Given the description of an element on the screen output the (x, y) to click on. 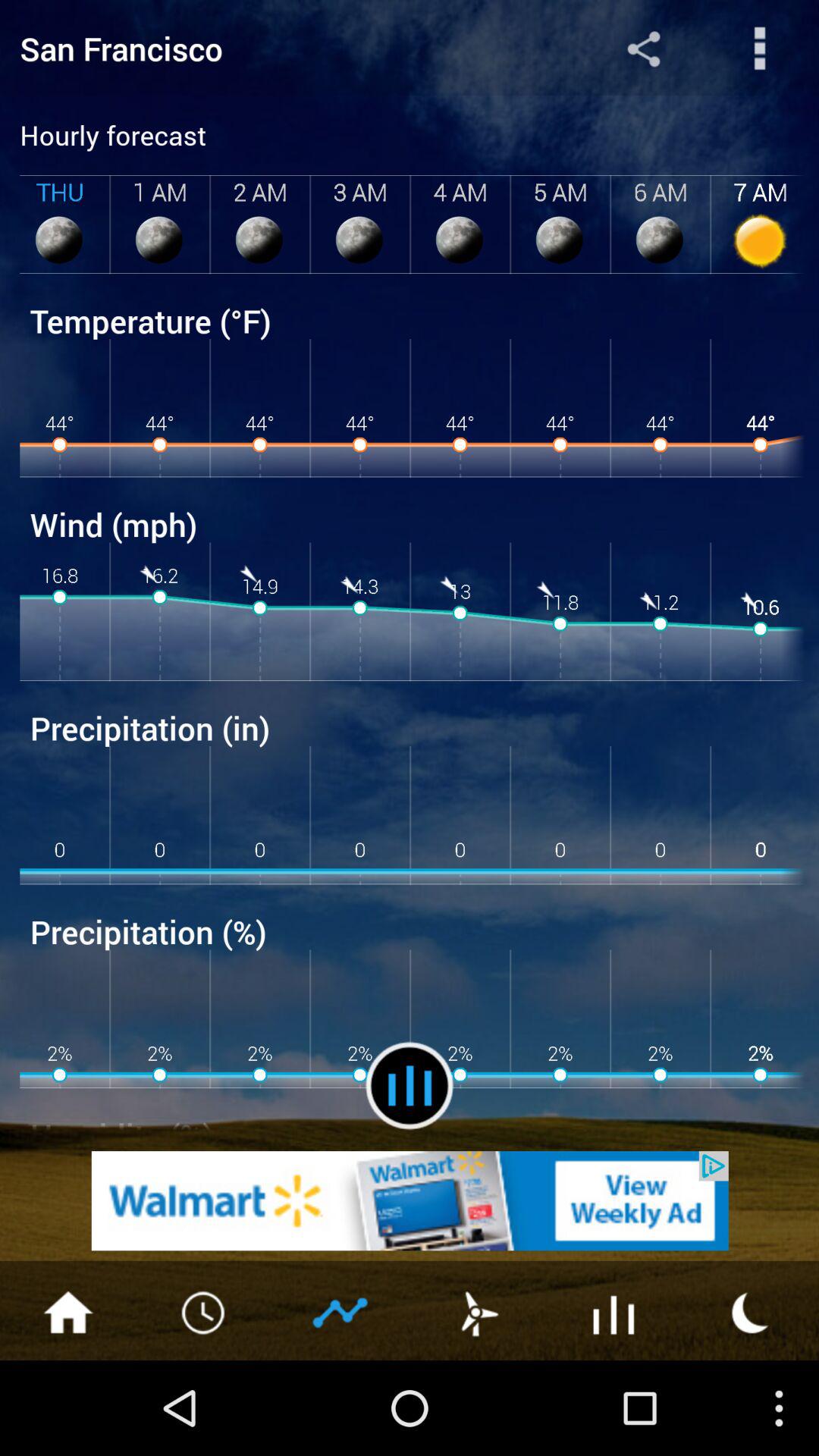
change the time (204, 1311)
